Given the description of an element on the screen output the (x, y) to click on. 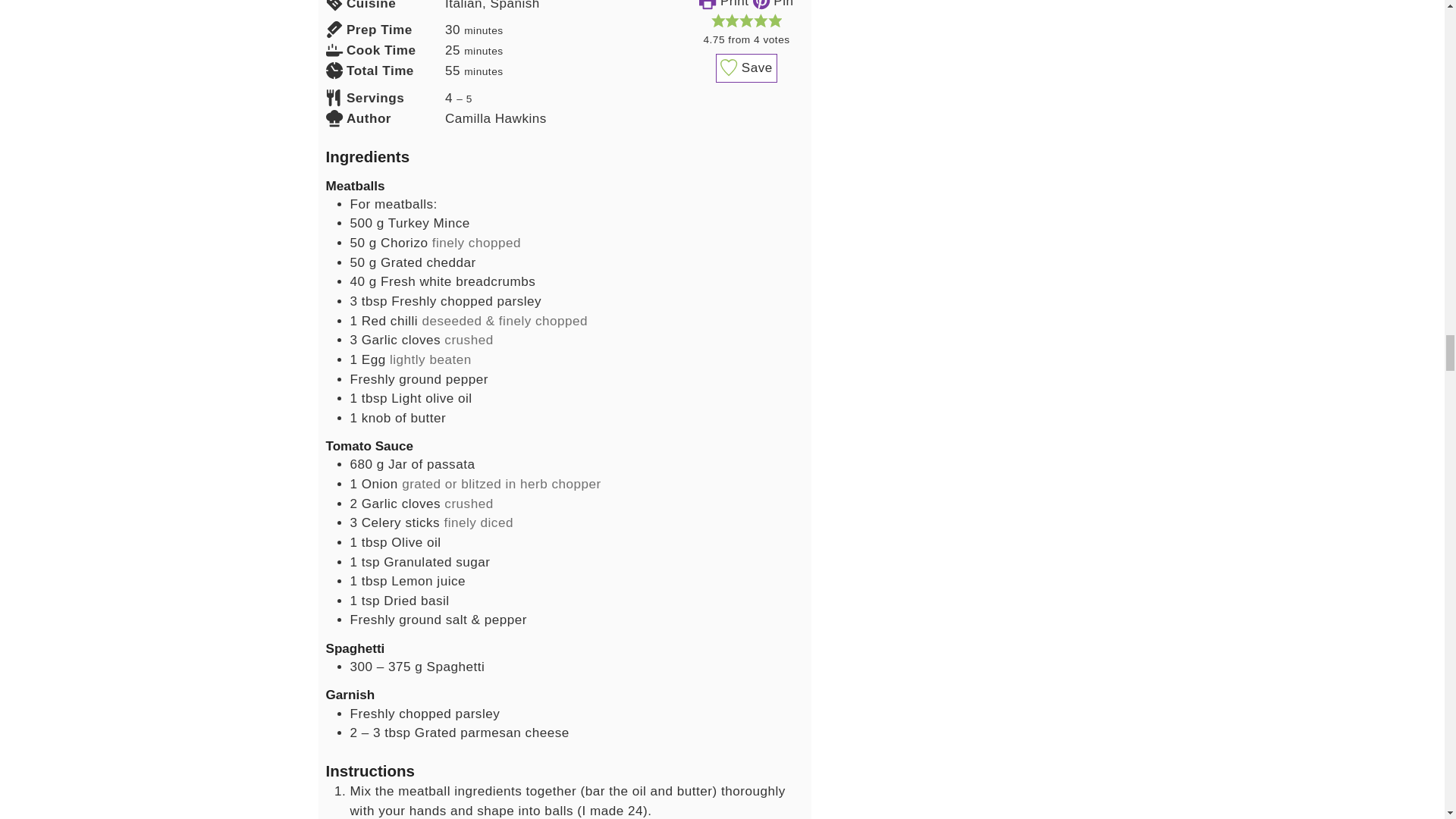
Save (746, 68)
Print (723, 4)
Pin (772, 4)
